Given the description of an element on the screen output the (x, y) to click on. 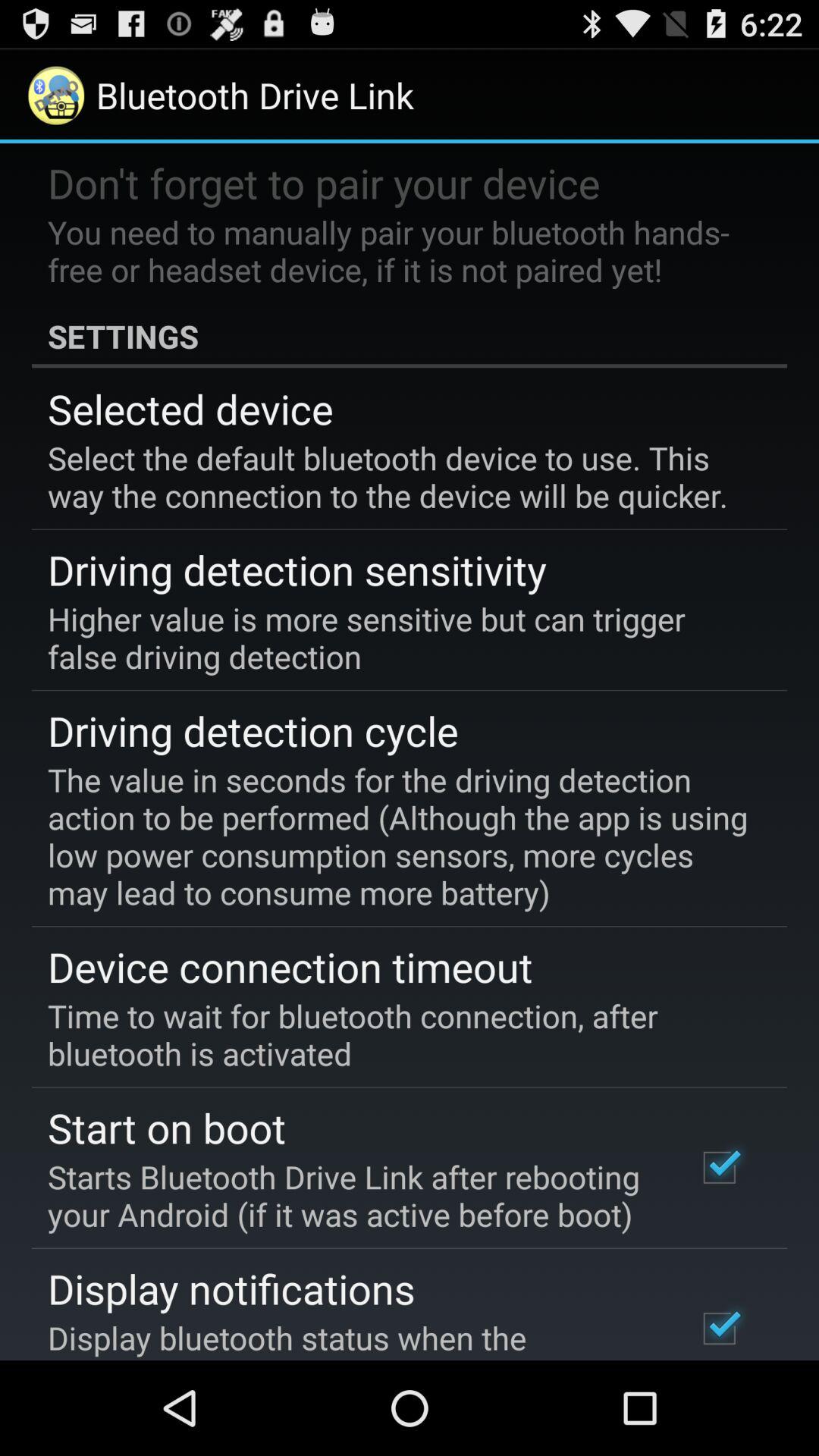
scroll until the select the default app (399, 476)
